Given the description of an element on the screen output the (x, y) to click on. 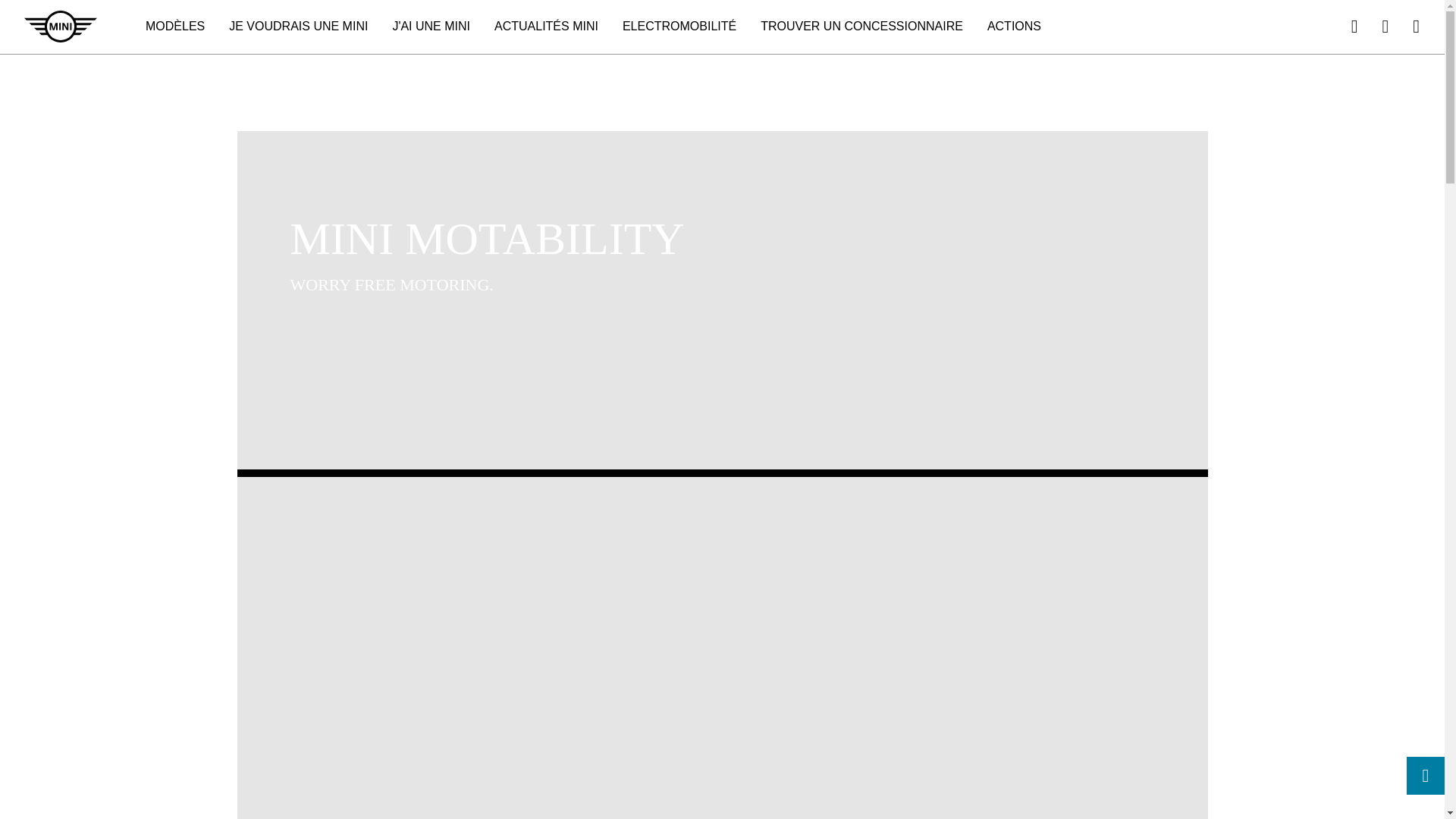
ACTIONS (1013, 27)
TROUVER UN CONCESSIONNAIRE (861, 27)
JE VOUDRAIS UNE MINI (298, 27)
J'AI UNE MINI (430, 27)
